Given the description of an element on the screen output the (x, y) to click on. 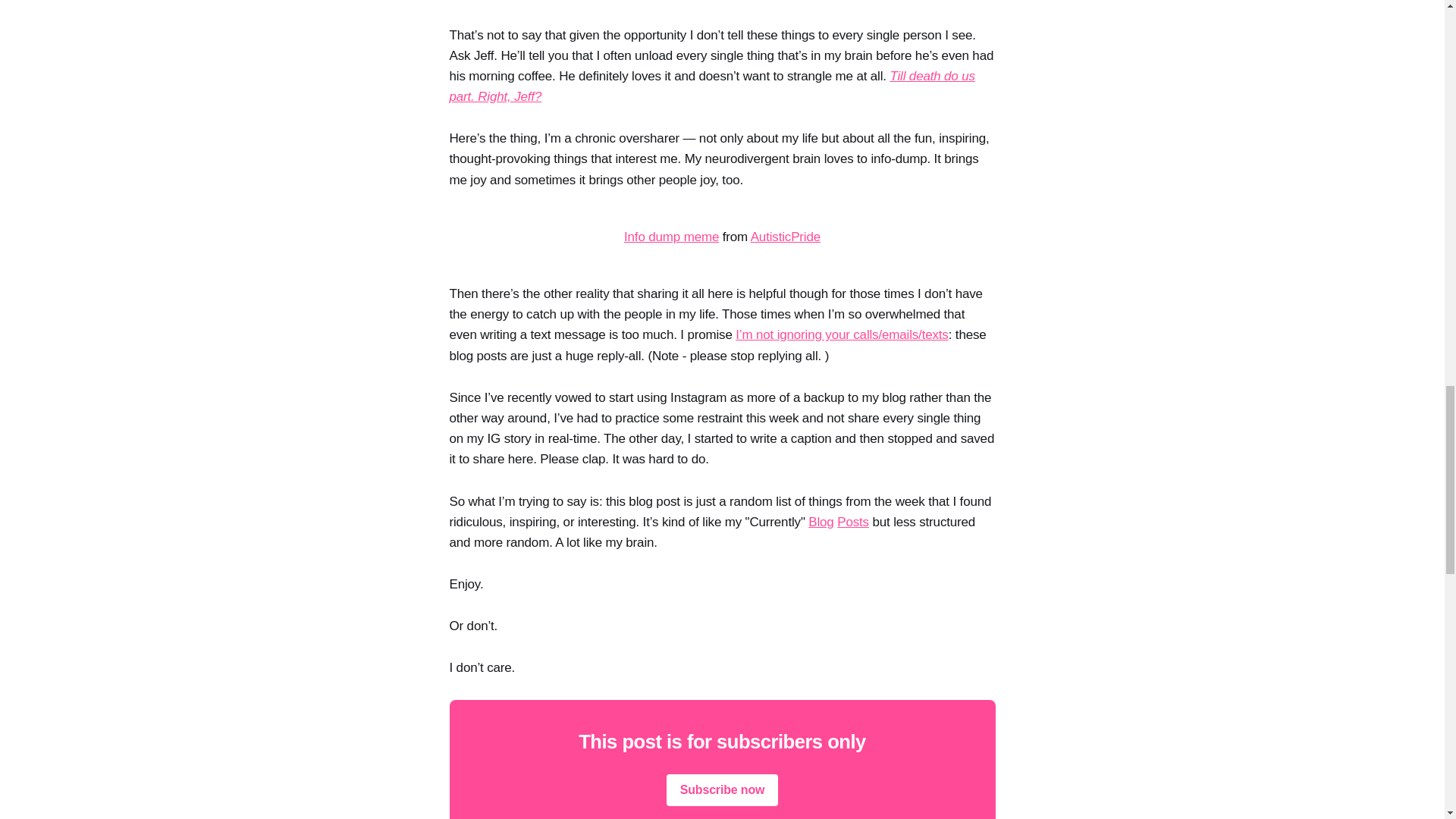
Posts (853, 522)
Till death do us part. Right, Jeff? (711, 86)
Subscribe now (722, 789)
Info dump meme (671, 237)
AutisticPride (786, 237)
Blog (820, 522)
